Given the description of an element on the screen output the (x, y) to click on. 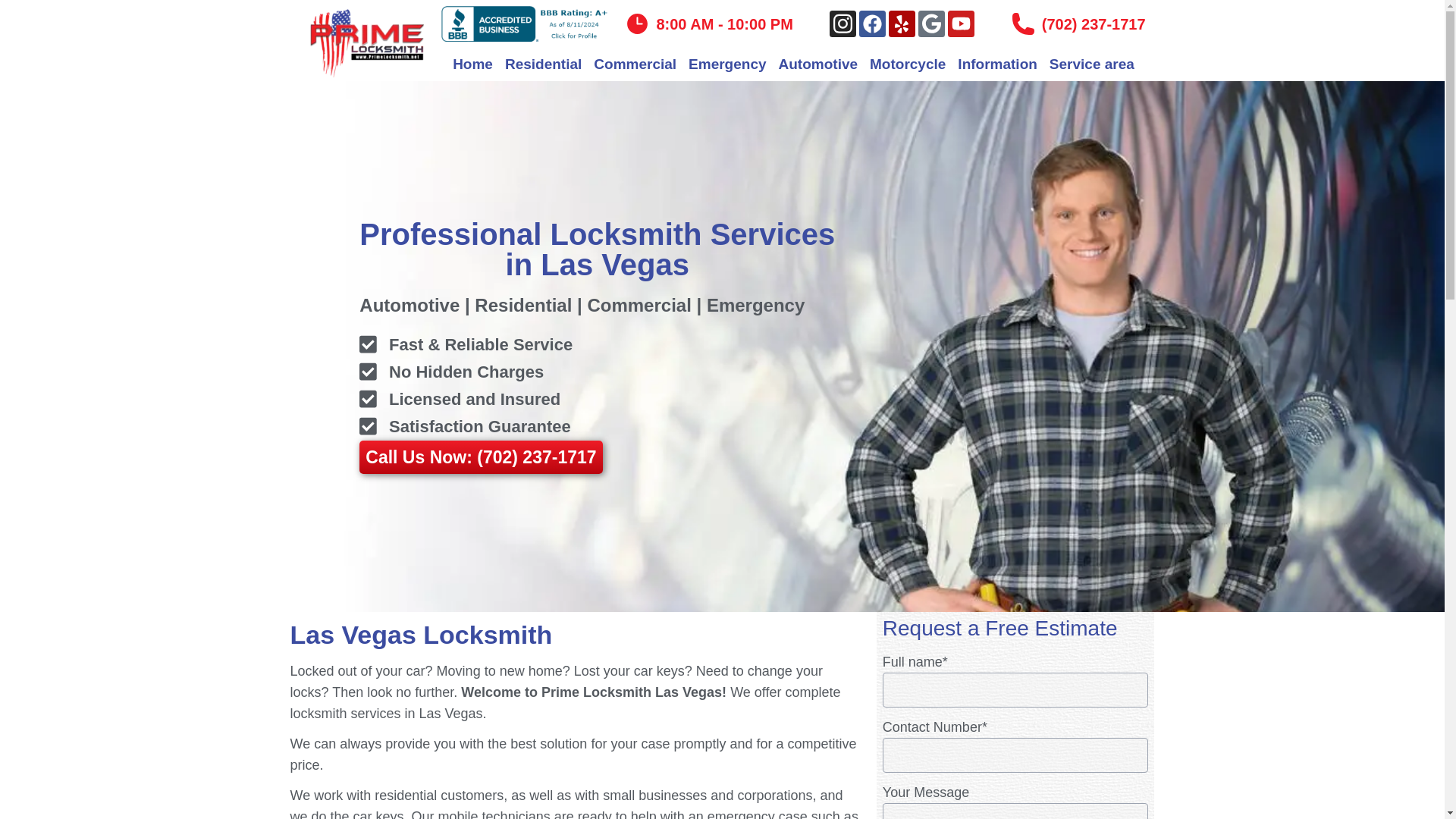
Google (931, 23)
Yelp (901, 23)
Commercial (635, 64)
Instagram (842, 23)
Youtube (960, 23)
Home (472, 64)
Home (472, 64)
BBB Rating (526, 23)
Emergency (726, 64)
Information (997, 64)
